Given the description of an element on the screen output the (x, y) to click on. 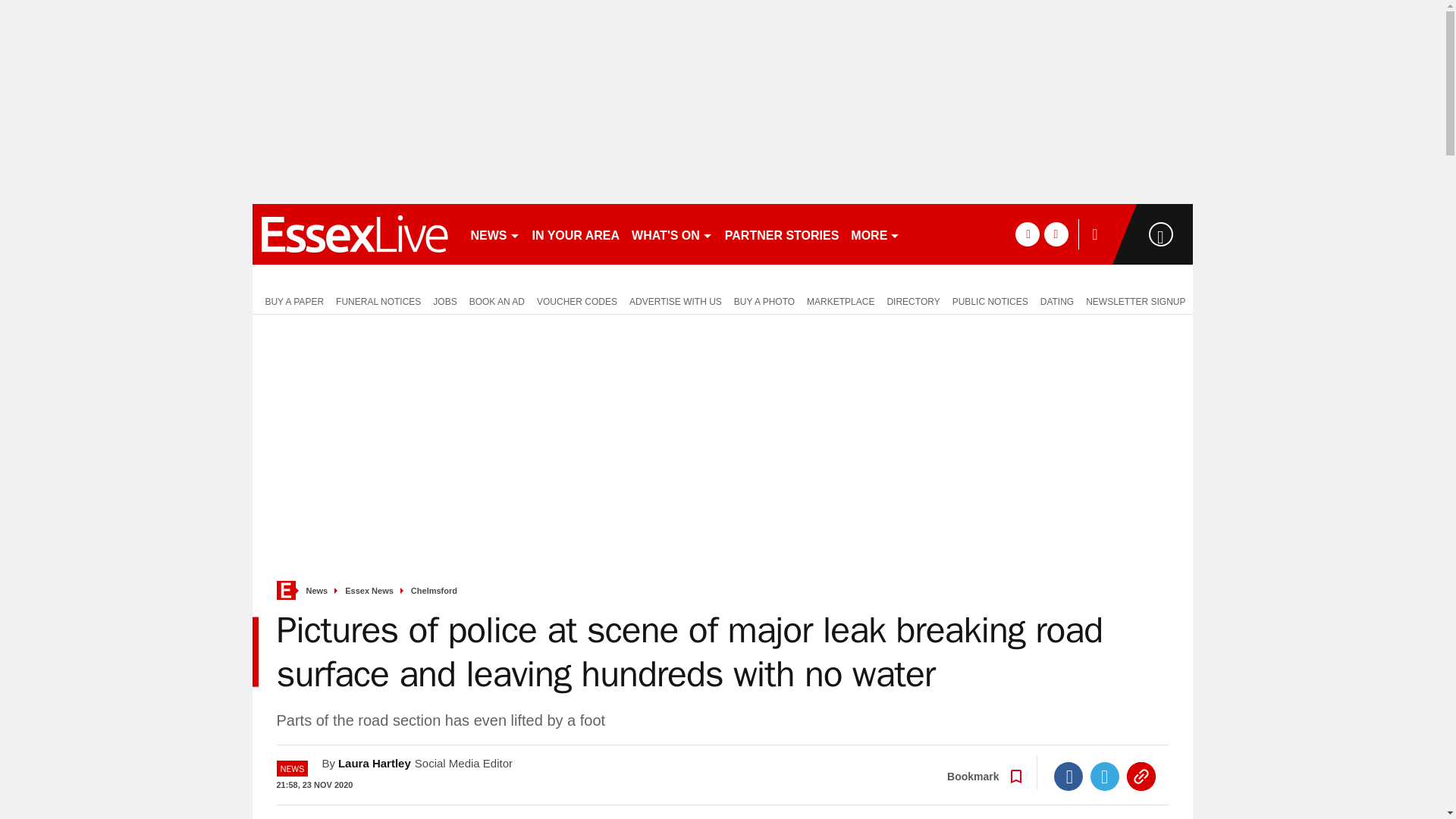
twitter (1055, 233)
PARTNER STORIES (782, 233)
WHAT'S ON (672, 233)
essexlive (354, 233)
Facebook (1068, 776)
NEWS (494, 233)
facebook (1026, 233)
IN YOUR AREA (575, 233)
Twitter (1104, 776)
MORE (874, 233)
